Given the description of an element on the screen output the (x, y) to click on. 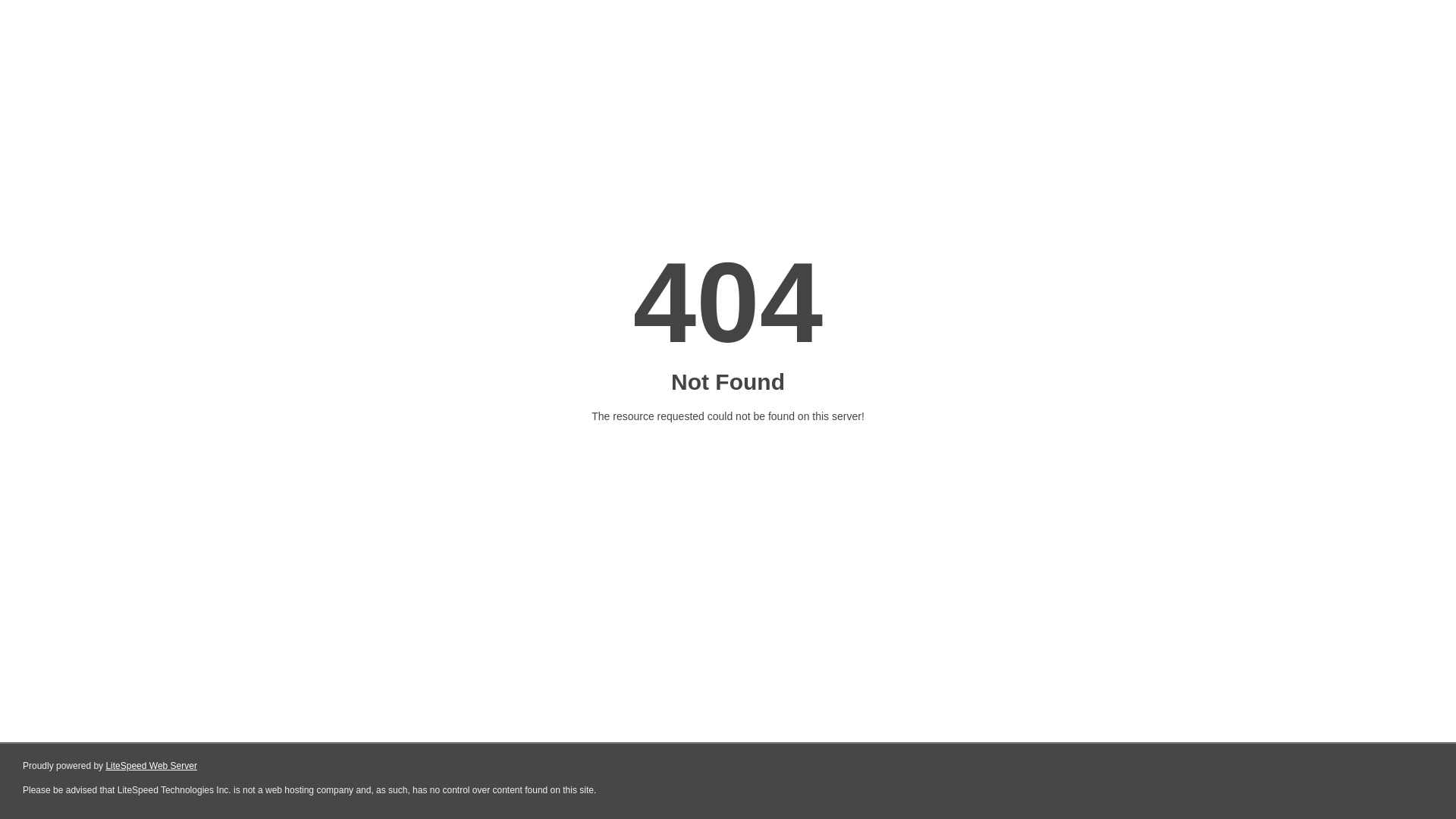
LiteSpeed Web Server Element type: text (151, 765)
